Given the description of an element on the screen output the (x, y) to click on. 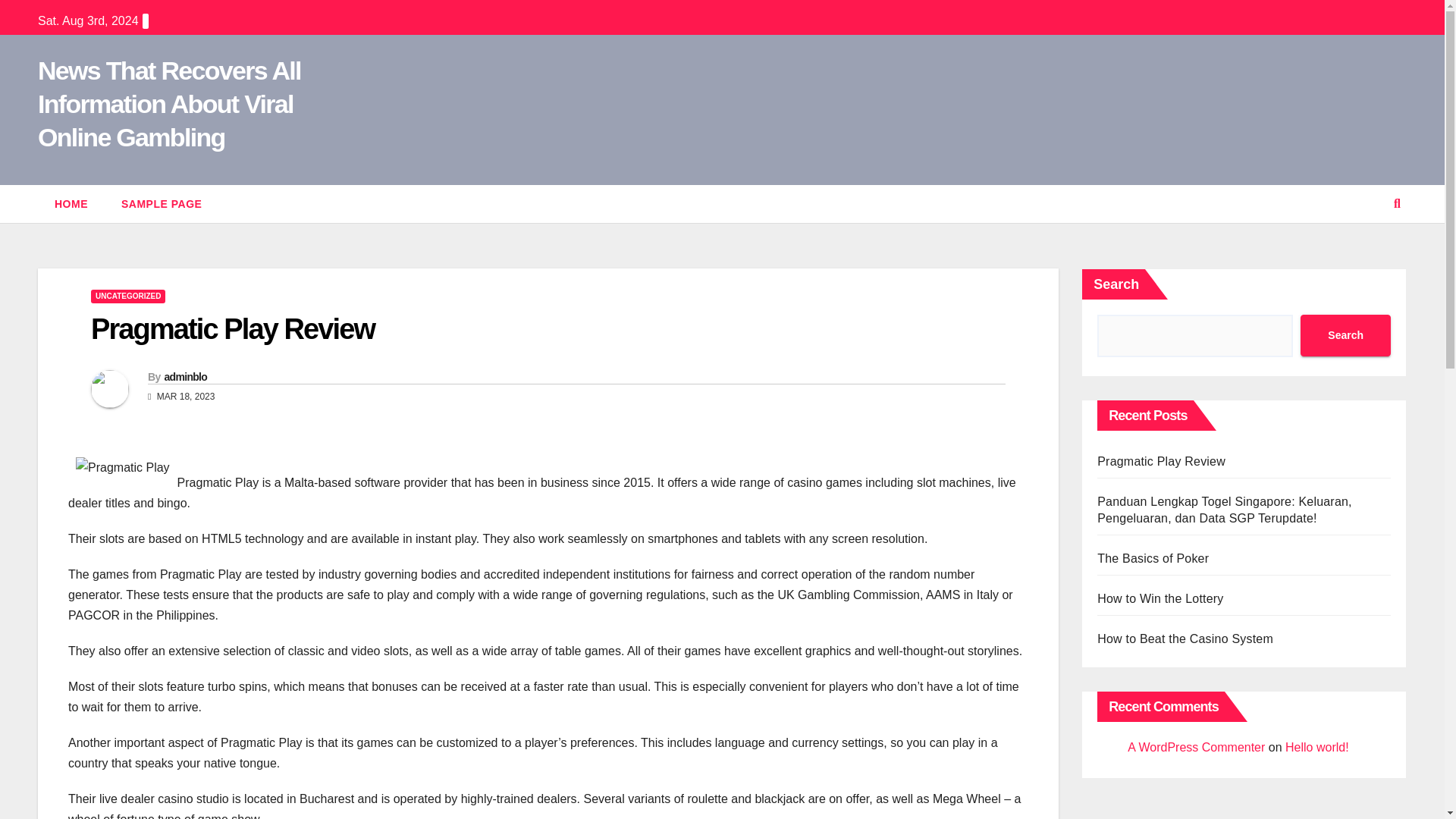
HOME (70, 203)
Search (1345, 335)
UNCATEGORIZED (127, 296)
Permalink to: Pragmatic Play Review (232, 328)
The Basics of Poker (1152, 558)
How to Win the Lottery (1160, 598)
SAMPLE PAGE (161, 203)
A WordPress Commenter (1195, 747)
How to Beat the Casino System (1184, 638)
adminblo (184, 377)
Home (70, 203)
Pragmatic Play Review (1161, 461)
Pragmatic Play Review (232, 328)
